Given the description of an element on the screen output the (x, y) to click on. 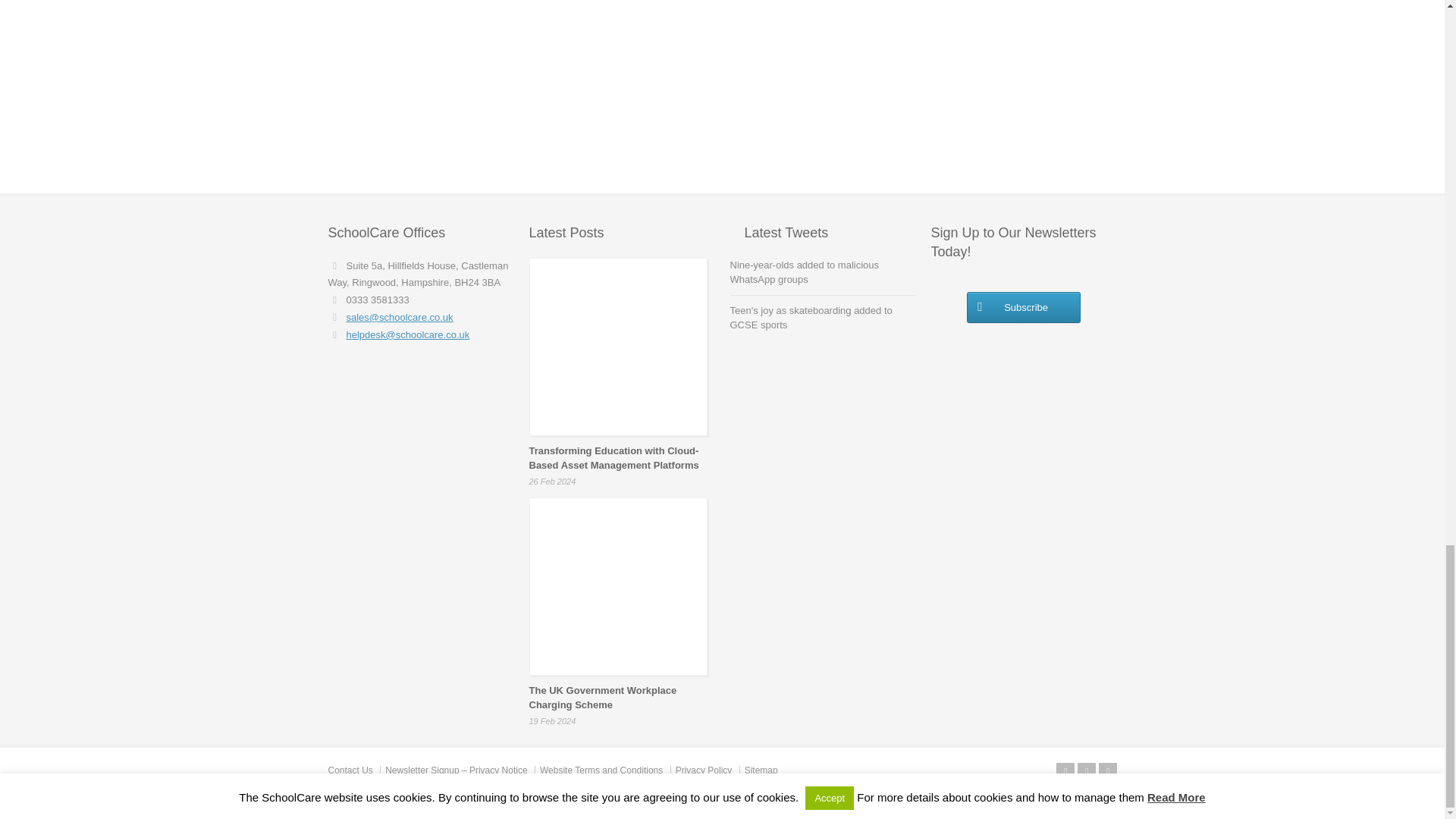
Facebook (1085, 771)
Linkedin (1106, 771)
Twitter (1064, 771)
